Given the description of an element on the screen output the (x, y) to click on. 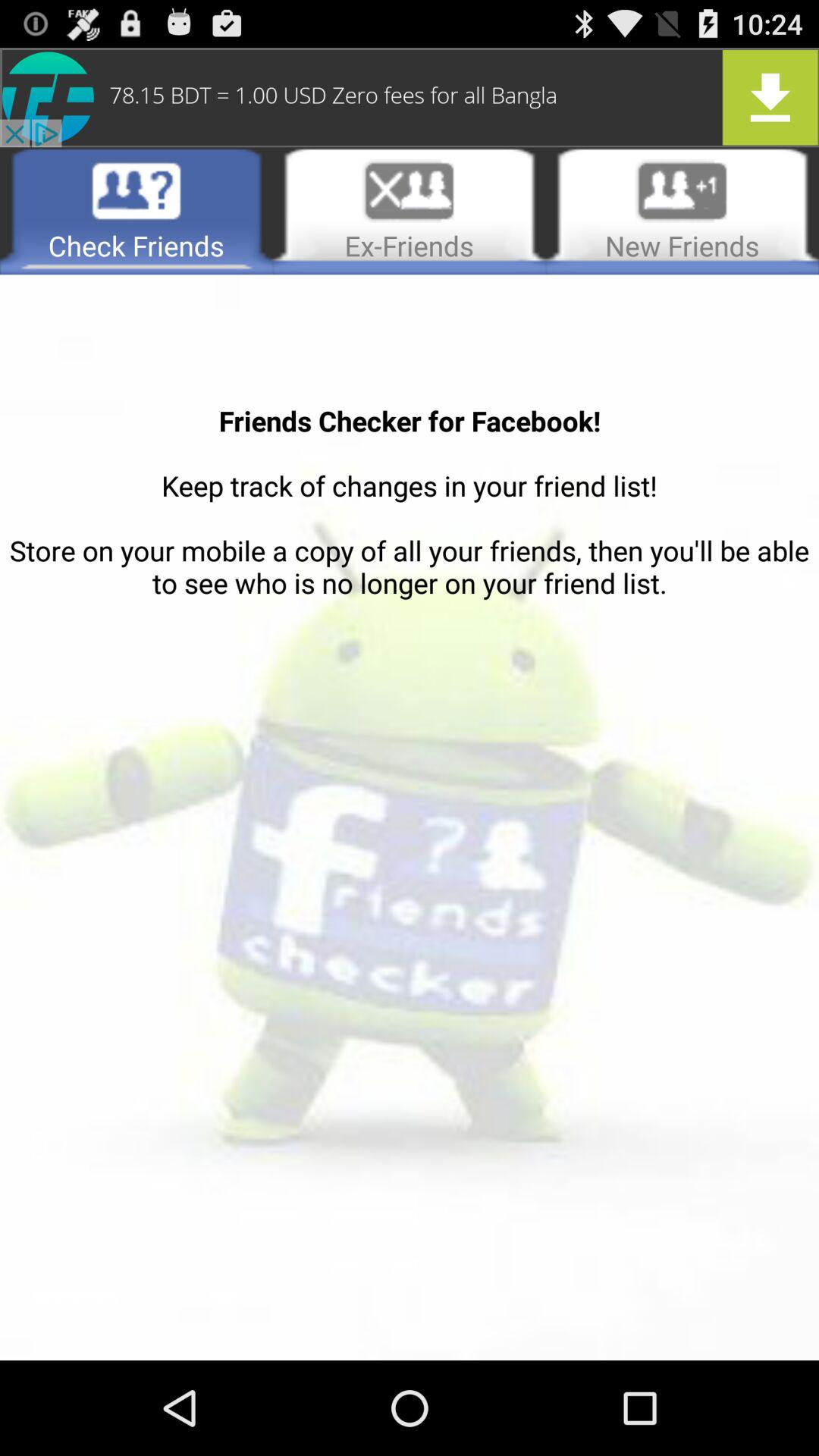
view advertisement (409, 97)
